Given the description of an element on the screen output the (x, y) to click on. 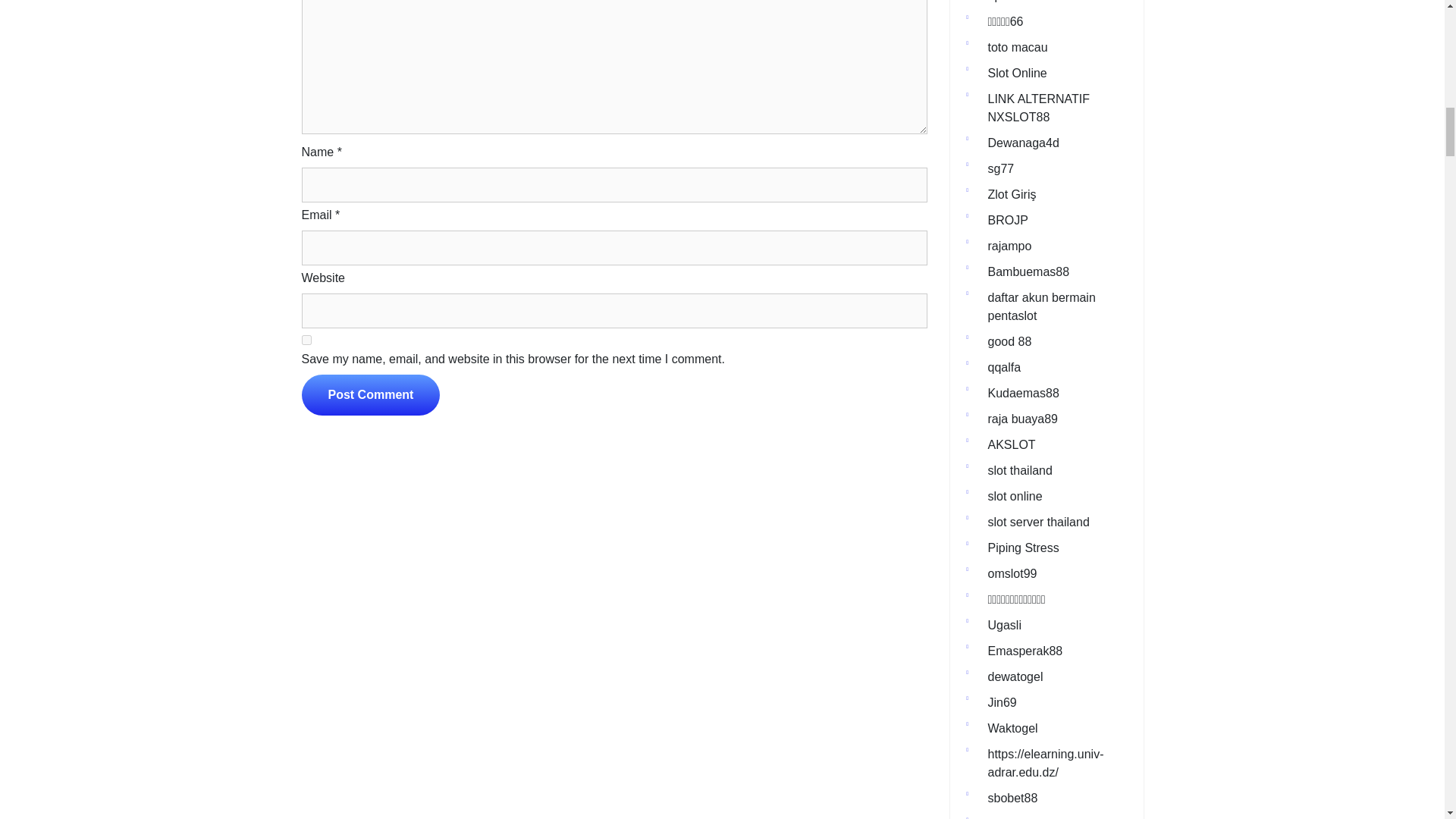
Post Comment (371, 394)
yes (306, 339)
Post Comment (371, 394)
